Given the description of an element on the screen output the (x, y) to click on. 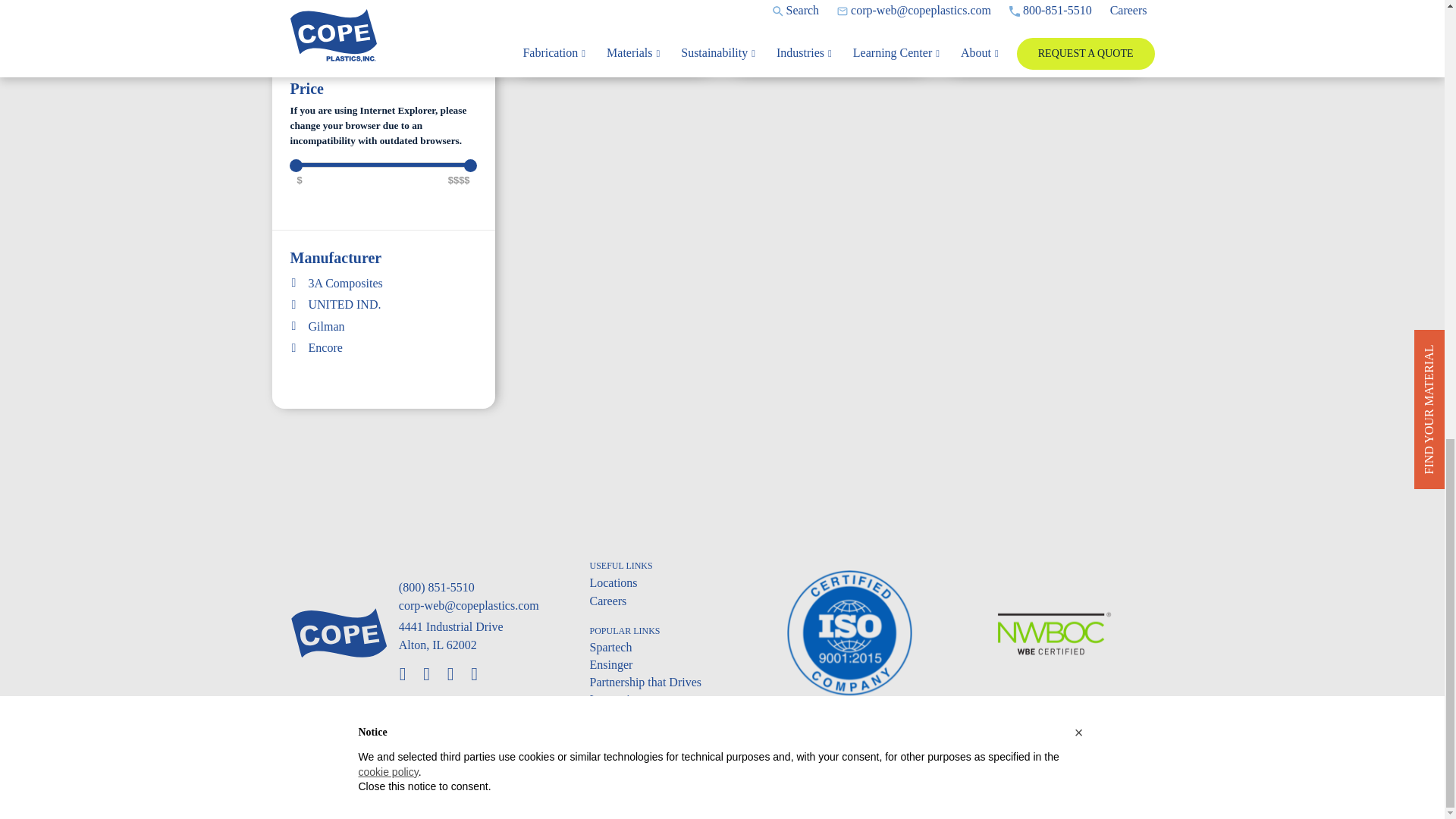
LogoCreated with Sketch. (338, 632)
